Given the description of an element on the screen output the (x, y) to click on. 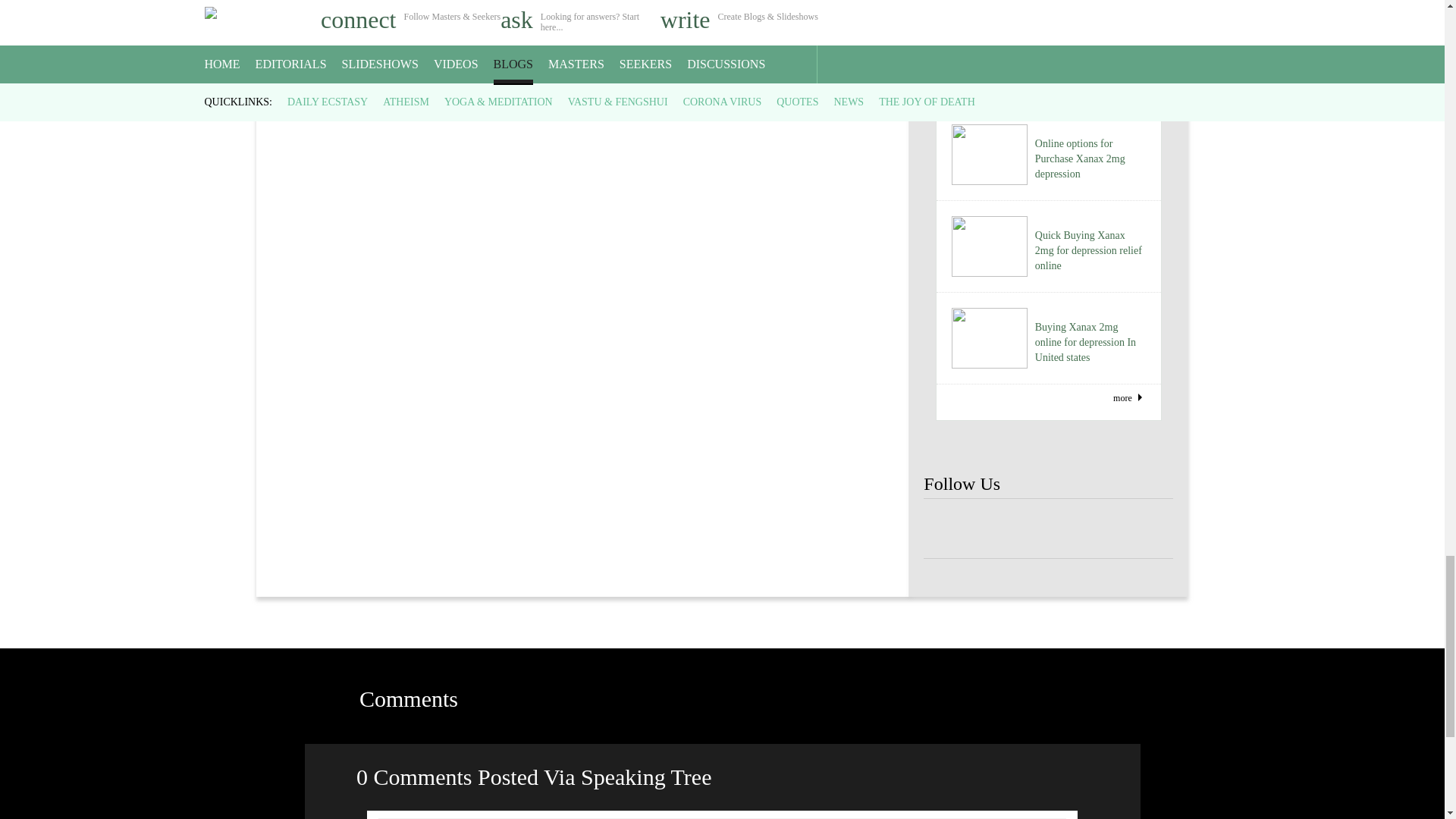
Speaking Tree FaceBook (1147, 529)
Speaking Tree FaceBook (998, 529)
Speaking Tree FaceBook (1048, 529)
Speaking Tree FaceBook (1099, 529)
Speaking Tree FaceBook (948, 529)
